Given the description of an element on the screen output the (x, y) to click on. 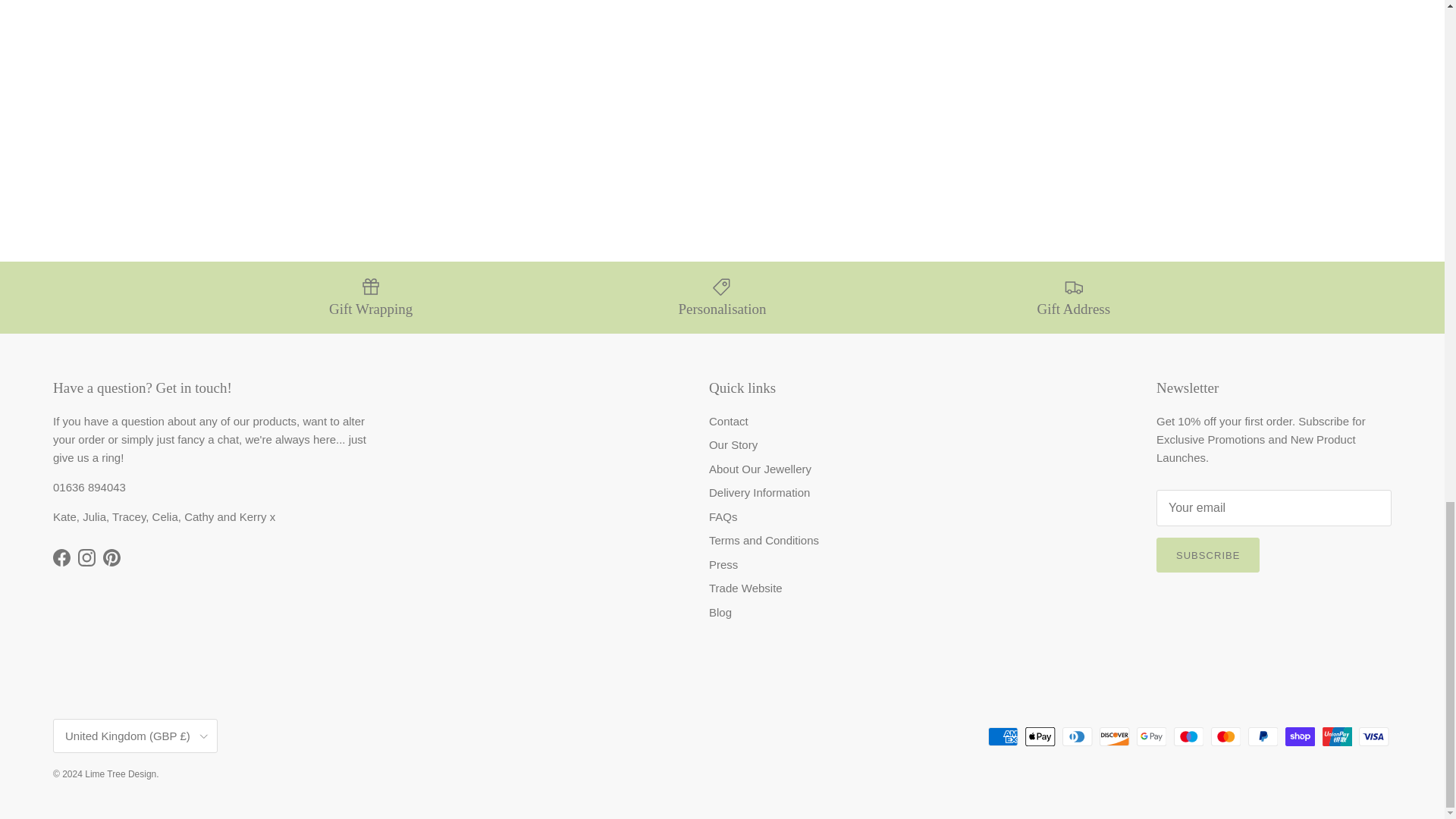
Lime Tree Design on Facebook (60, 557)
Lime Tree Design on Instagram (87, 557)
Lime Tree Design on Pinterest (111, 557)
